Given the description of an element on the screen output the (x, y) to click on. 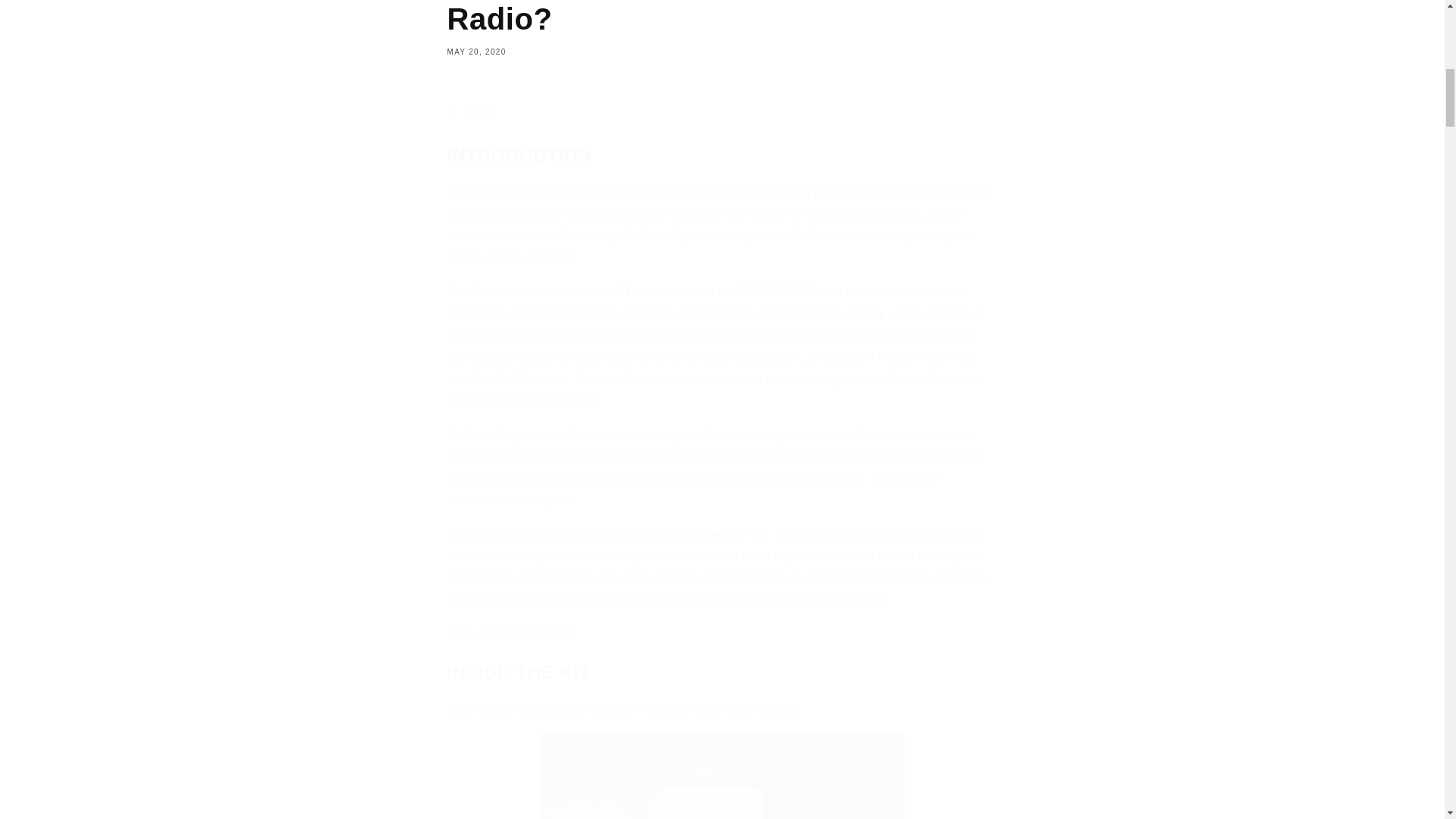
Pirate Radio kit (874, 213)
Share (721, 111)
